Given the description of an element on the screen output the (x, y) to click on. 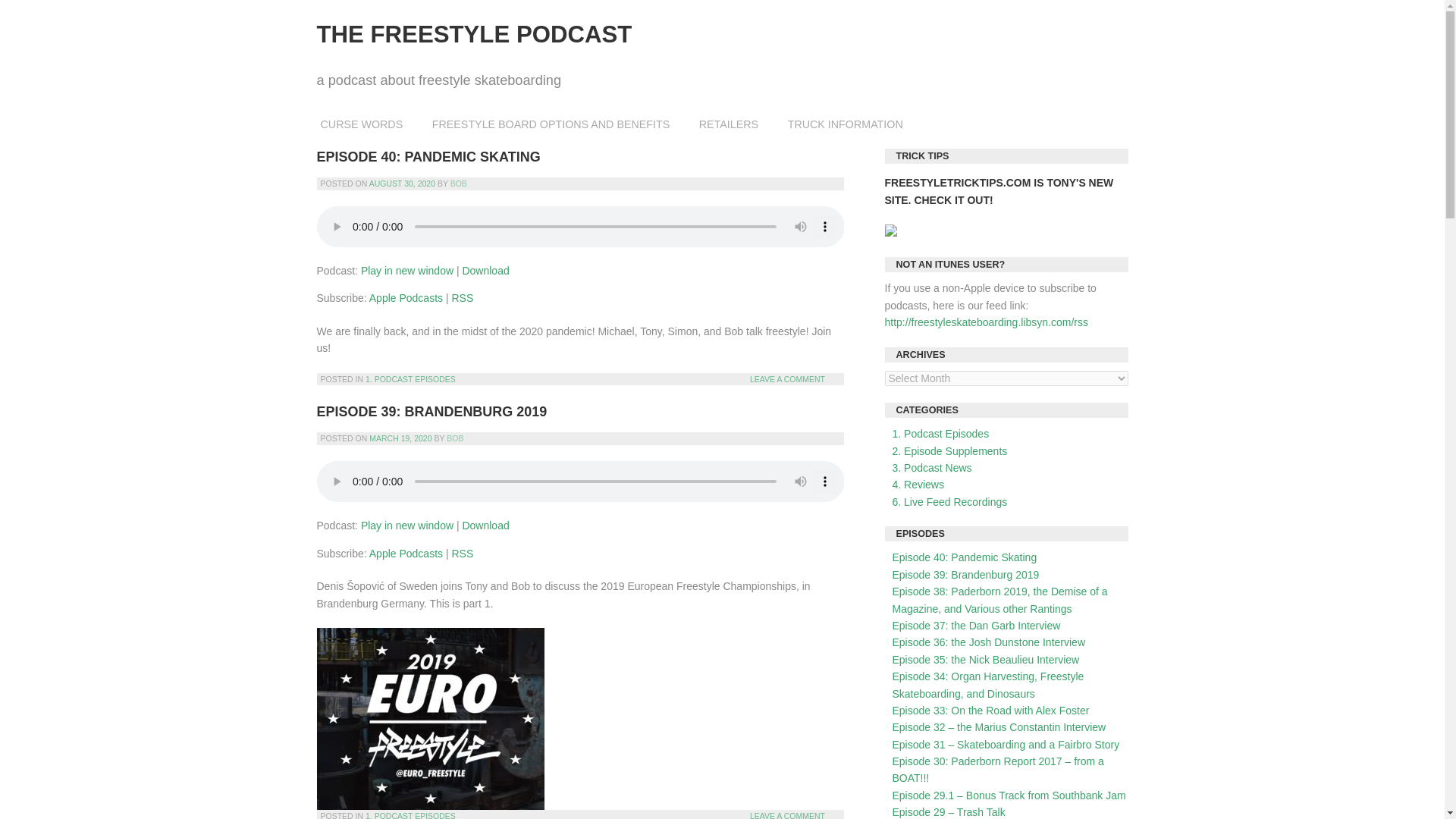
Play in new window (406, 525)
Download (484, 525)
Play in new window (406, 270)
MARCH 19, 2020 (399, 438)
Download (484, 270)
Subscribe via RSS (462, 553)
CURSE WORDS (362, 124)
Apple Podcasts (405, 553)
Subscribe via RSS (462, 297)
Play in new window (406, 270)
Subscribe on Apple Podcasts (405, 297)
THE FREESTYLE PODCAST (474, 34)
1. PODCAST EPISODES (410, 815)
EPISODE 40: PANDEMIC SKATING (428, 156)
RSS (462, 553)
